Given the description of an element on the screen output the (x, y) to click on. 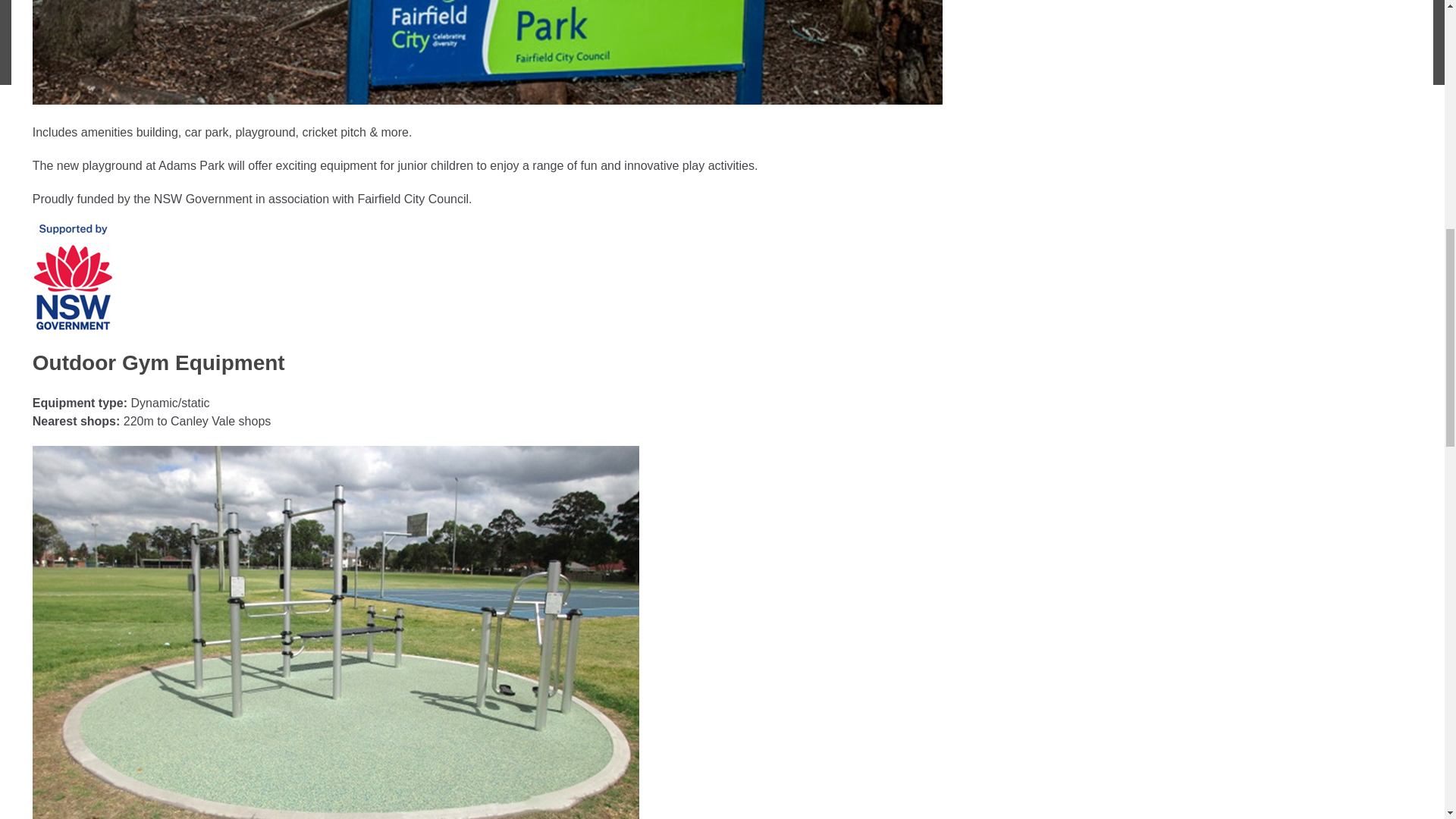
Adams Park (487, 52)
